Given the description of an element on the screen output the (x, y) to click on. 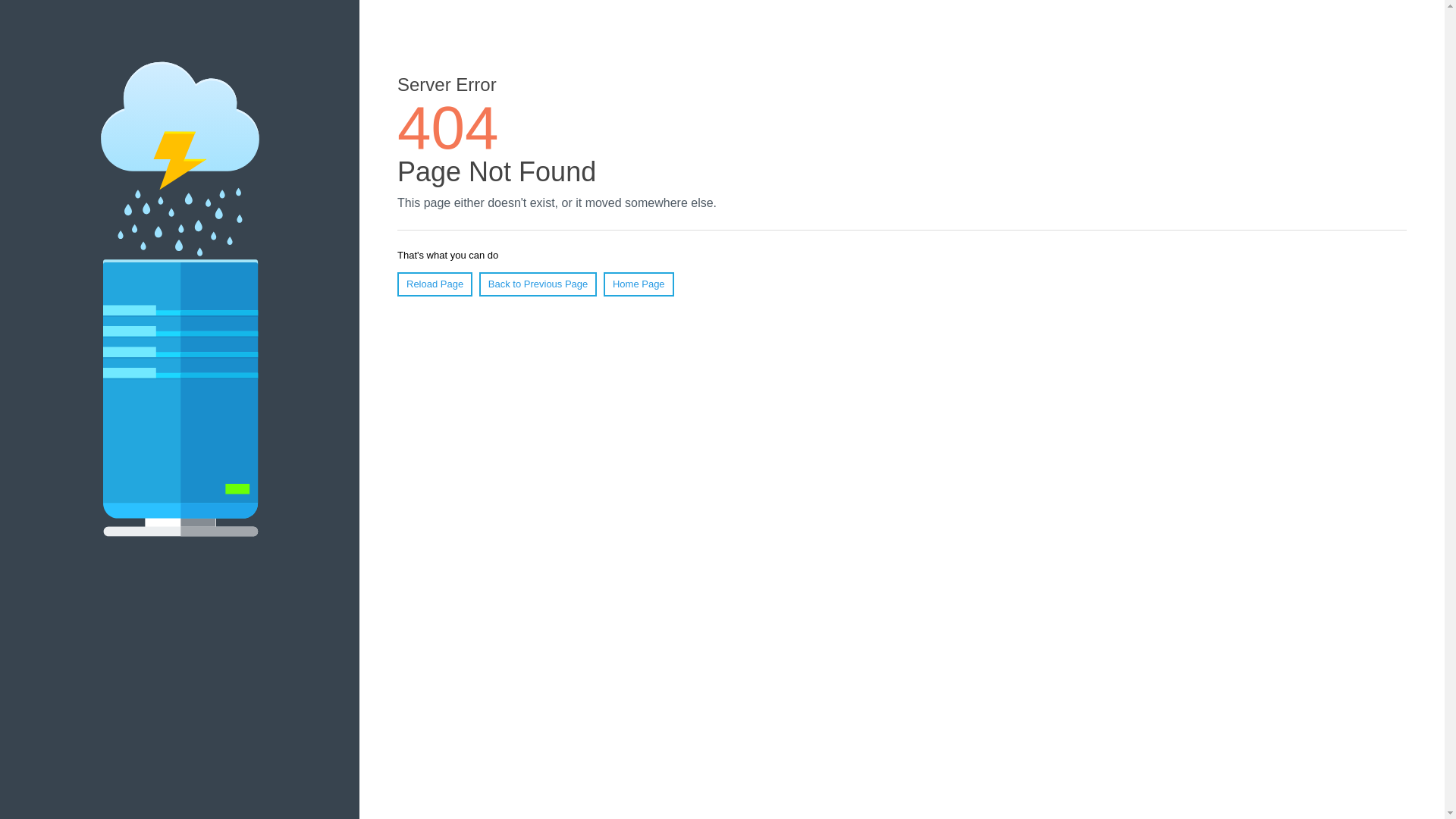
Back to Previous Page Element type: text (538, 284)
Home Page Element type: text (638, 284)
Reload Page Element type: text (434, 284)
